Given the description of an element on the screen output the (x, y) to click on. 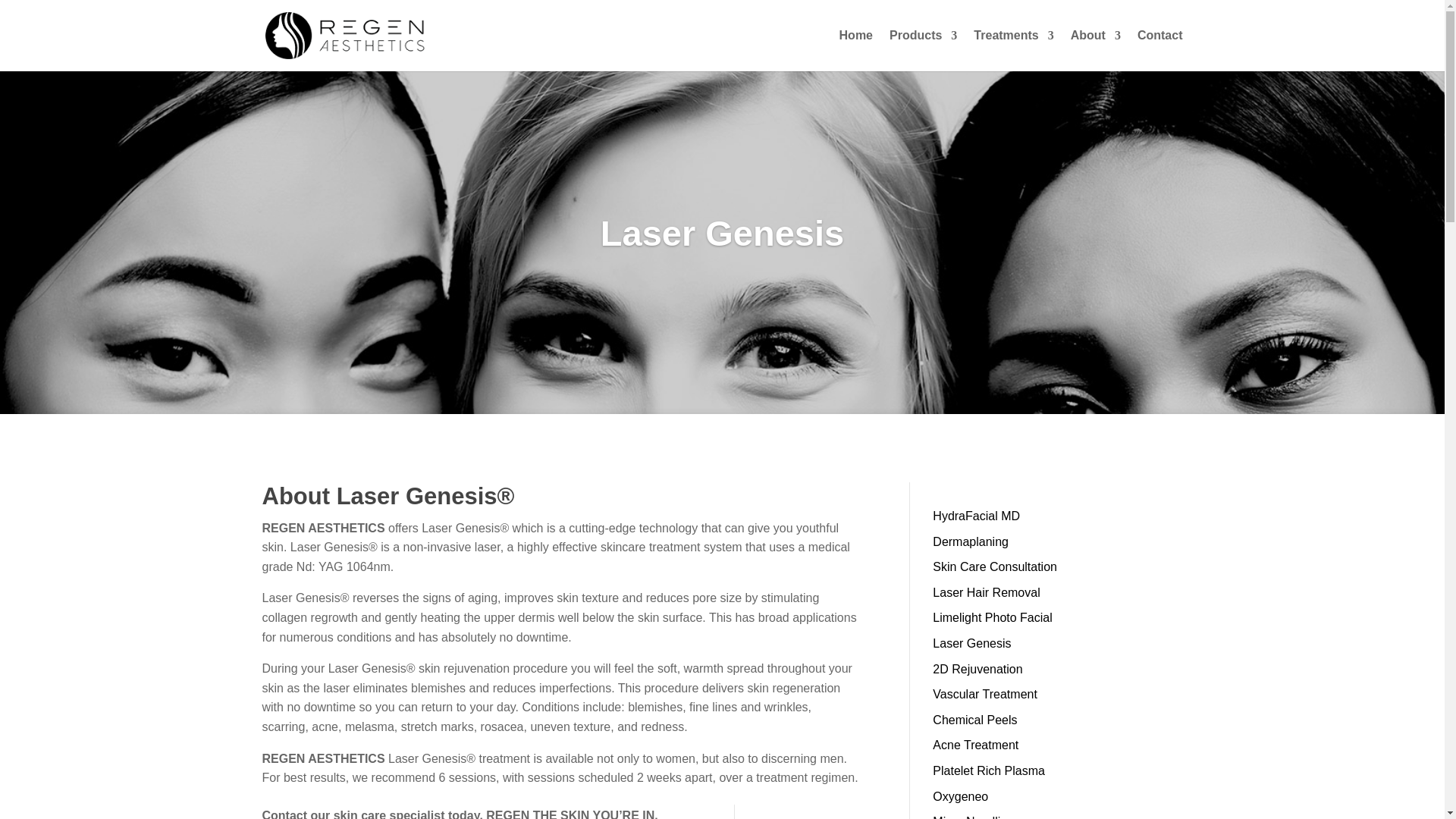
Treatments (1013, 50)
About (1095, 50)
Contact (1159, 50)
Home (856, 50)
Products (922, 50)
